Given the description of an element on the screen output the (x, y) to click on. 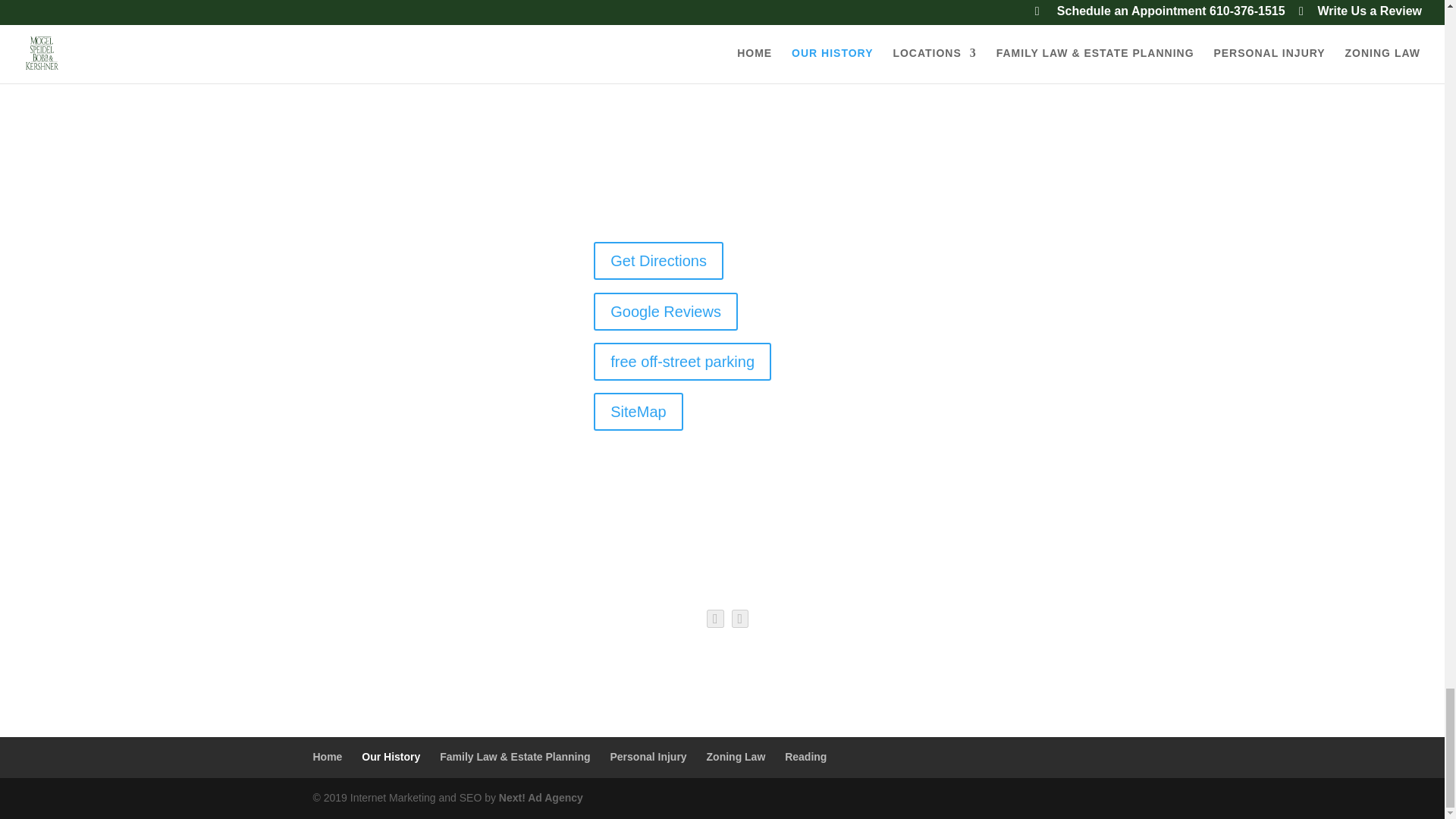
610-376-1515 (663, 202)
Our History (390, 756)
Google Reviews (666, 311)
Next! Ad Agency (541, 797)
Get Directions (658, 260)
520 Walnut St Reading, PA 19601 (677, 184)
free off-street parking (682, 361)
Reading (805, 756)
SiteMap (638, 411)
Zoning Law (735, 756)
Home (327, 756)
Personal Injury (647, 756)
